Given the description of an element on the screen output the (x, y) to click on. 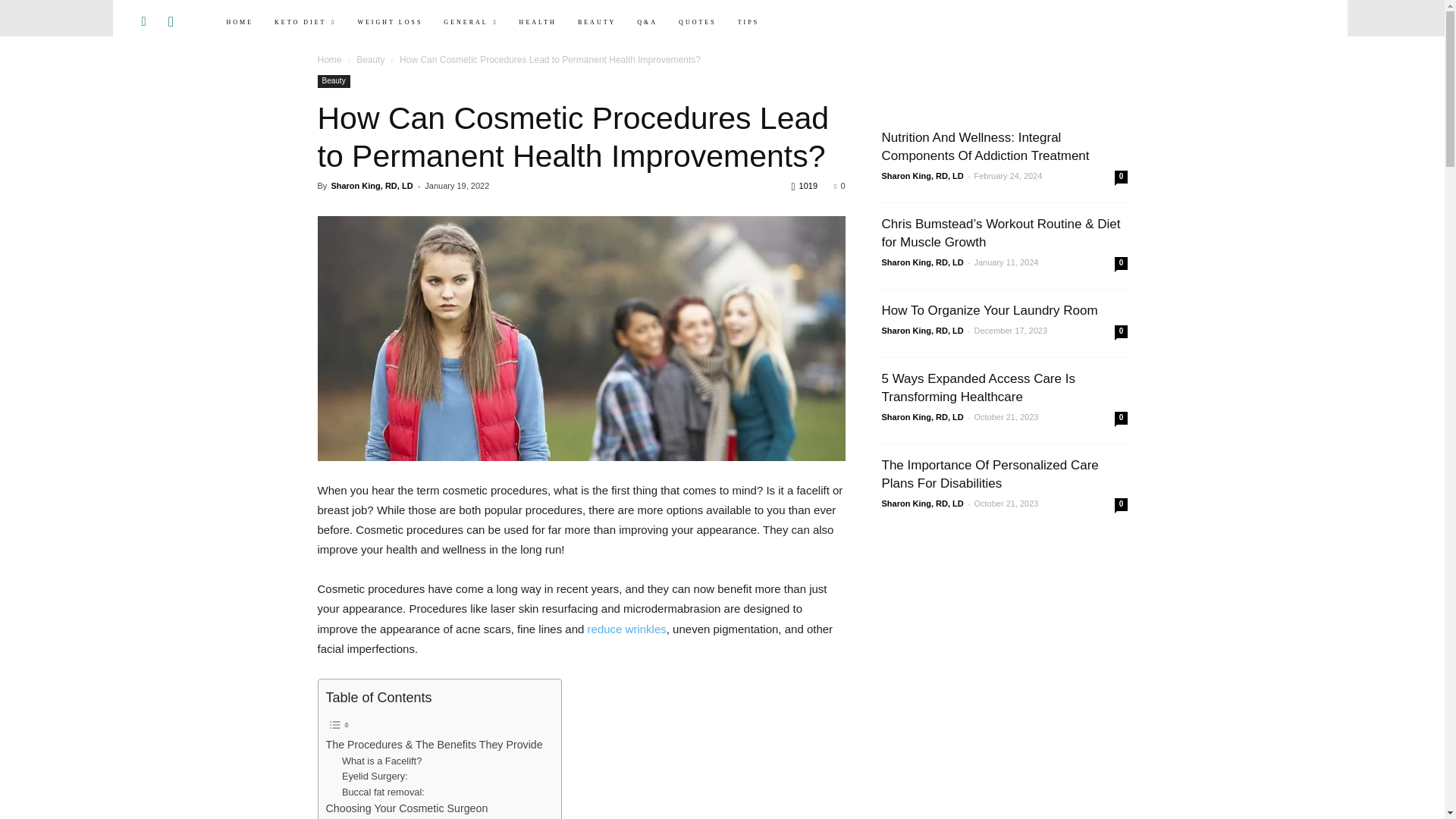
What is a Facelift? (382, 761)
cosmetic-surgery-plastic (580, 338)
View all posts in Beauty (370, 59)
